Given the description of an element on the screen output the (x, y) to click on. 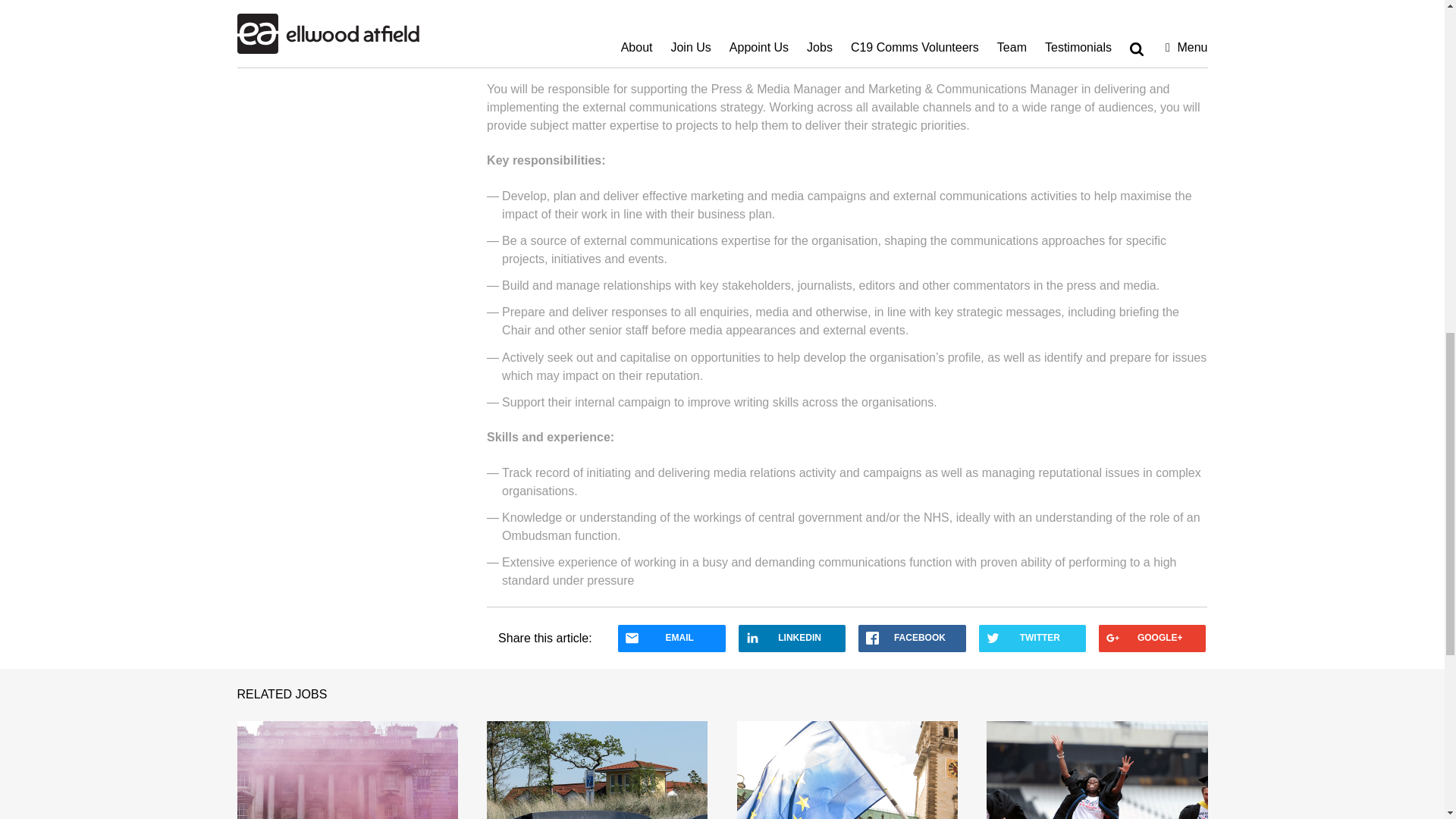
Interim Press Officer a the BookTrust (847, 770)
TWITTER (1032, 637)
LINKEDIN (791, 637)
Director of External Affairs at New West End Company (1097, 770)
Interim Director of Communications (346, 770)
FACEBOOK (912, 637)
EMAIL (671, 637)
